Given the description of an element on the screen output the (x, y) to click on. 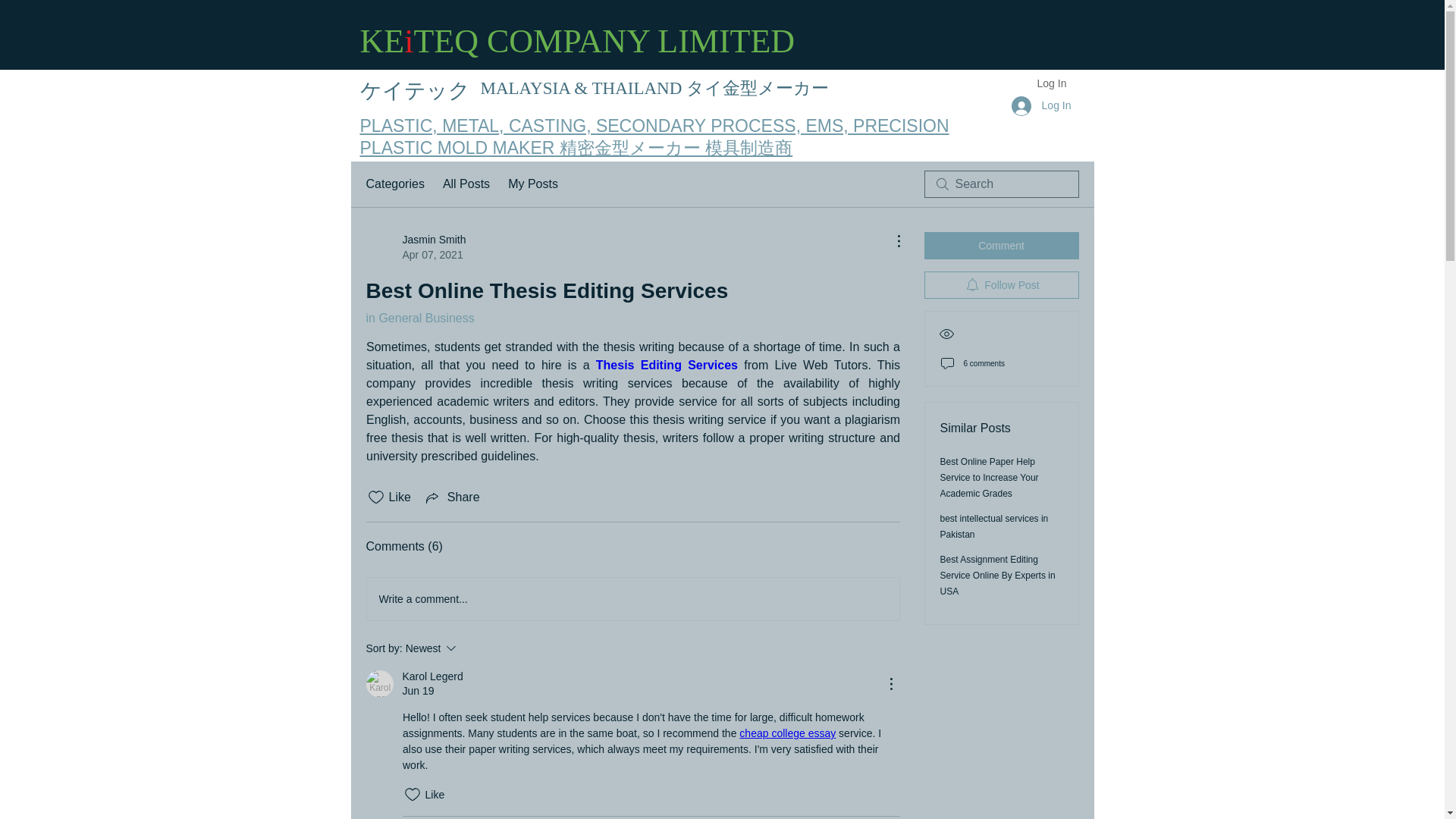
KE (381, 40)
About us (794, 215)
Karol Legerd (432, 676)
My Posts (471, 648)
Thesis Editing Services (532, 184)
Home (665, 364)
Contact (409, 215)
Share (922, 215)
Our Services (451, 497)
Blog (543, 215)
Write a comment... (1037, 215)
TEQ COMPANY LIMITED (415, 246)
Categories (632, 598)
